Given the description of an element on the screen output the (x, y) to click on. 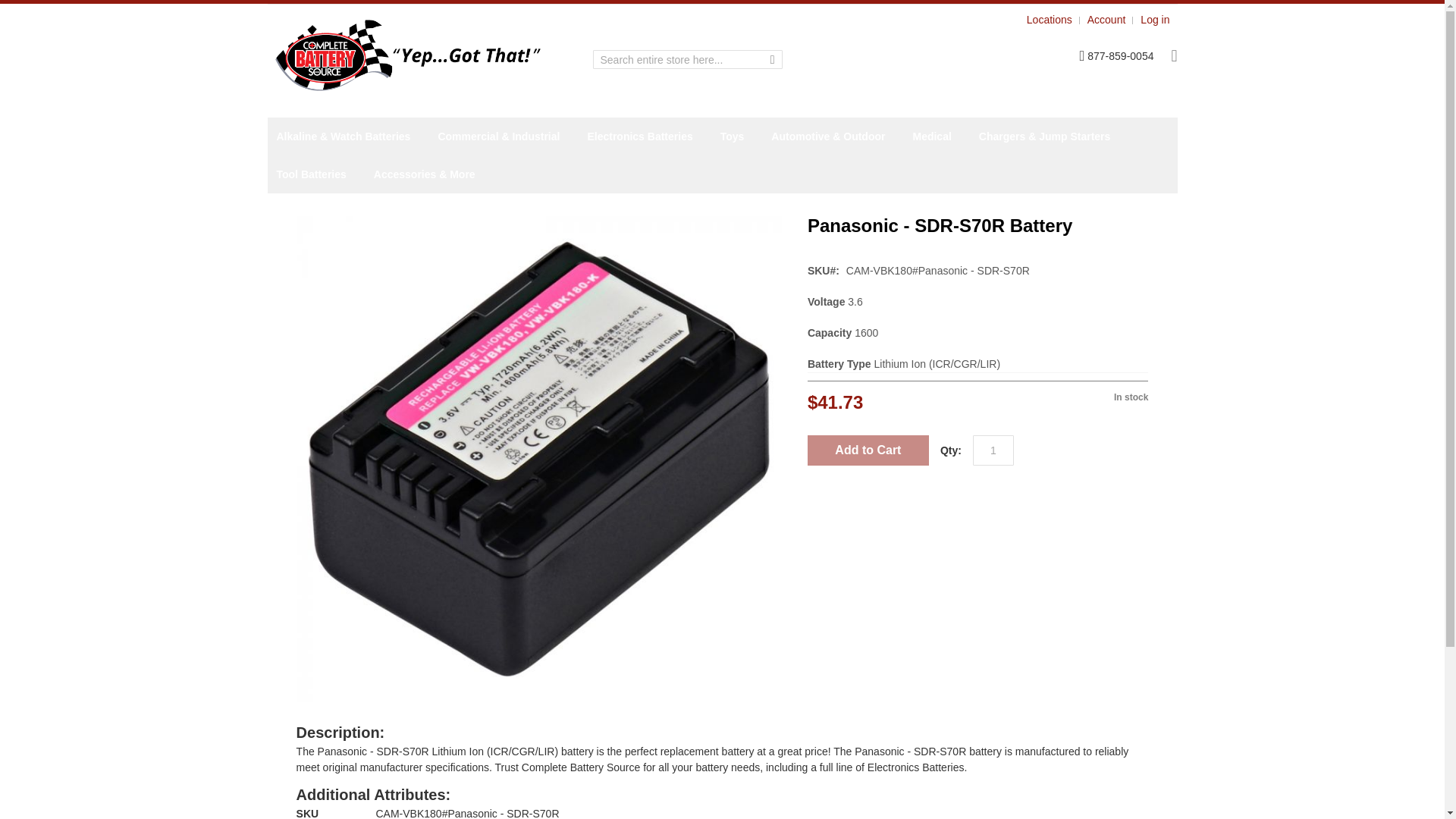
Log in (1154, 19)
1 (992, 450)
Add to Cart (868, 450)
Complete Battery Source (407, 54)
Locations (1048, 19)
Login (1154, 19)
Availability (1063, 392)
Qty (992, 450)
Complete Battery Source (414, 55)
Account (1106, 19)
